Given the description of an element on the screen output the (x, y) to click on. 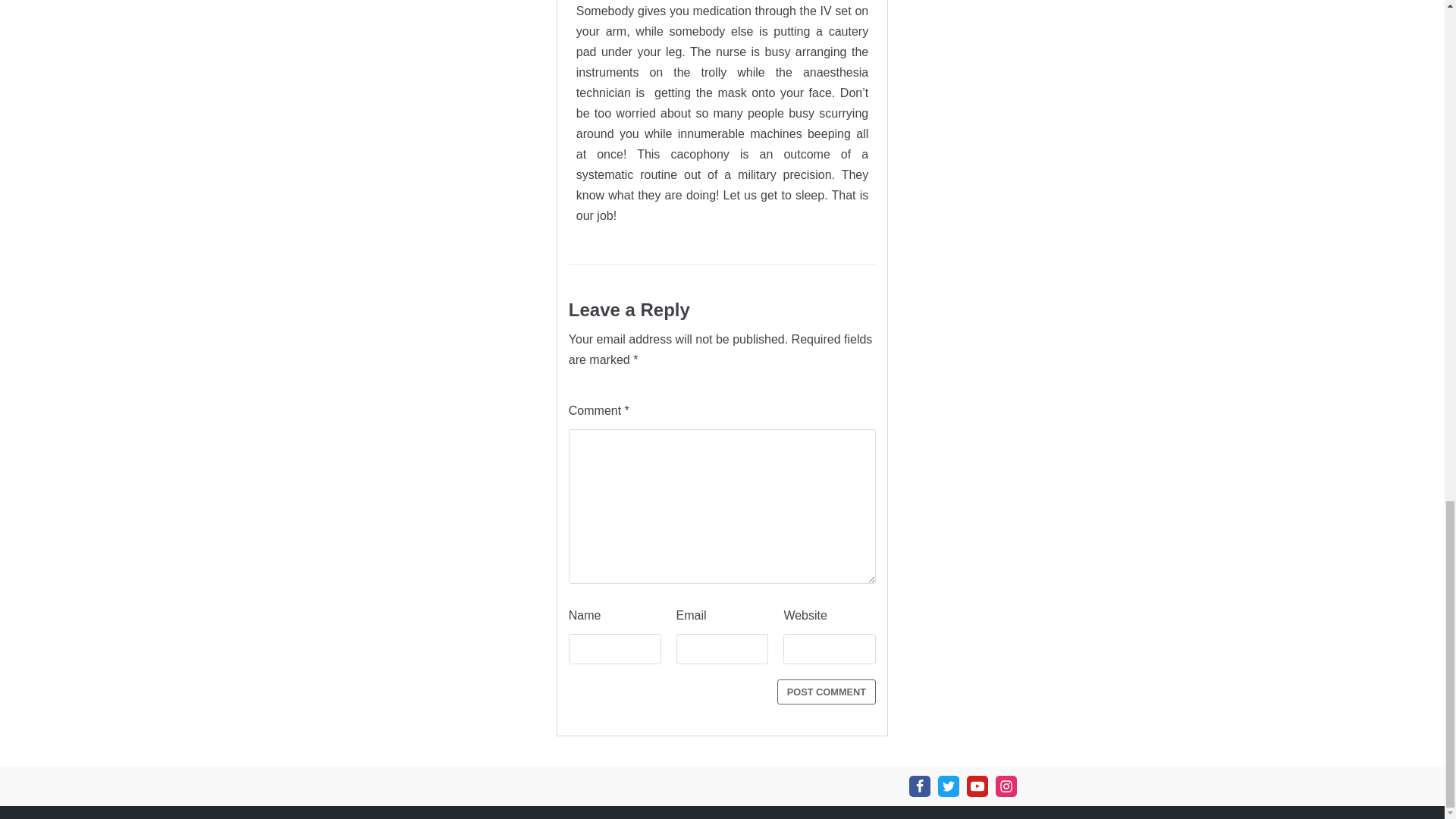
Facebook (919, 785)
Post Comment (826, 691)
Youtube (977, 785)
Instagram (1005, 785)
Twitter (948, 785)
